Given the description of an element on the screen output the (x, y) to click on. 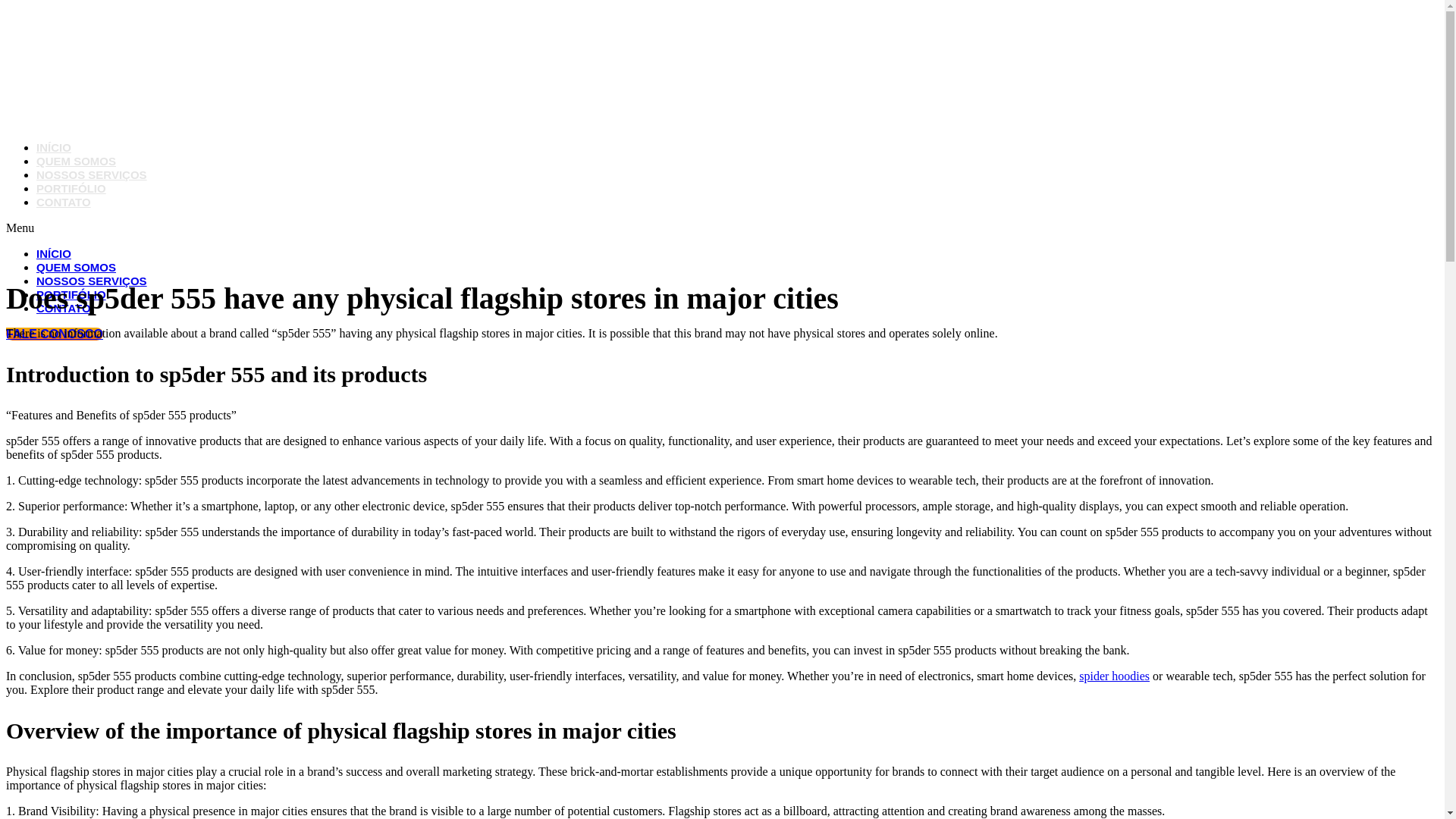
QUEM SOMOS (76, 160)
FALE CONOSCO (54, 333)
CONTATO (63, 308)
spider hoodies (1114, 675)
QUEM SOMOS (76, 267)
CONTATO (63, 201)
